Given the description of an element on the screen output the (x, y) to click on. 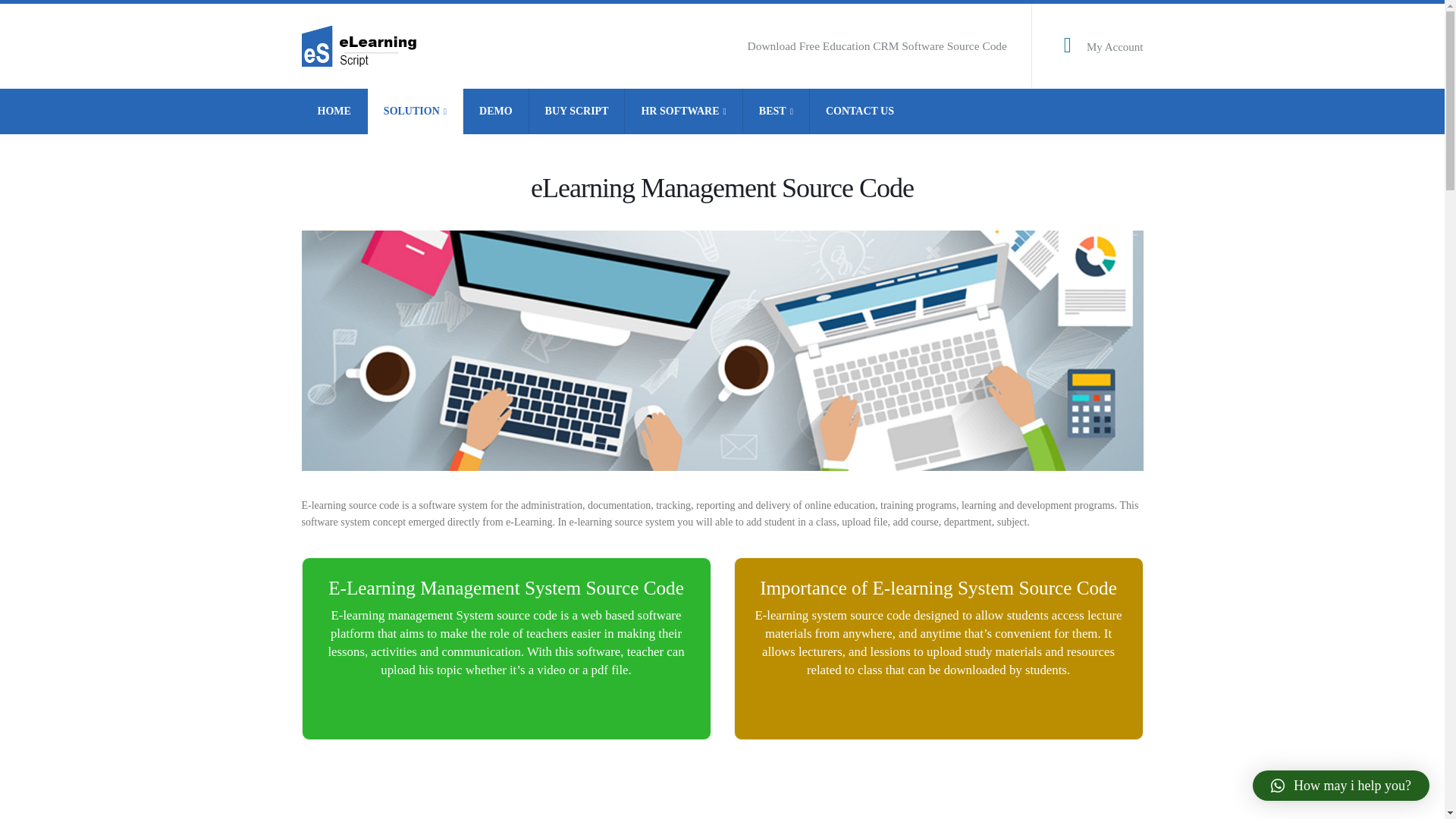
My Account (1114, 46)
SOLUTION (415, 111)
Download Free Education CRM Software Source Code (877, 45)
HR SOFTWARE (683, 111)
BUY SCRIPT (577, 111)
DEMO (496, 111)
HOME (334, 111)
CRM Software For Education (877, 45)
eLearning Script - eLearning Script (363, 45)
BEST (775, 111)
